Given the description of an element on the screen output the (x, y) to click on. 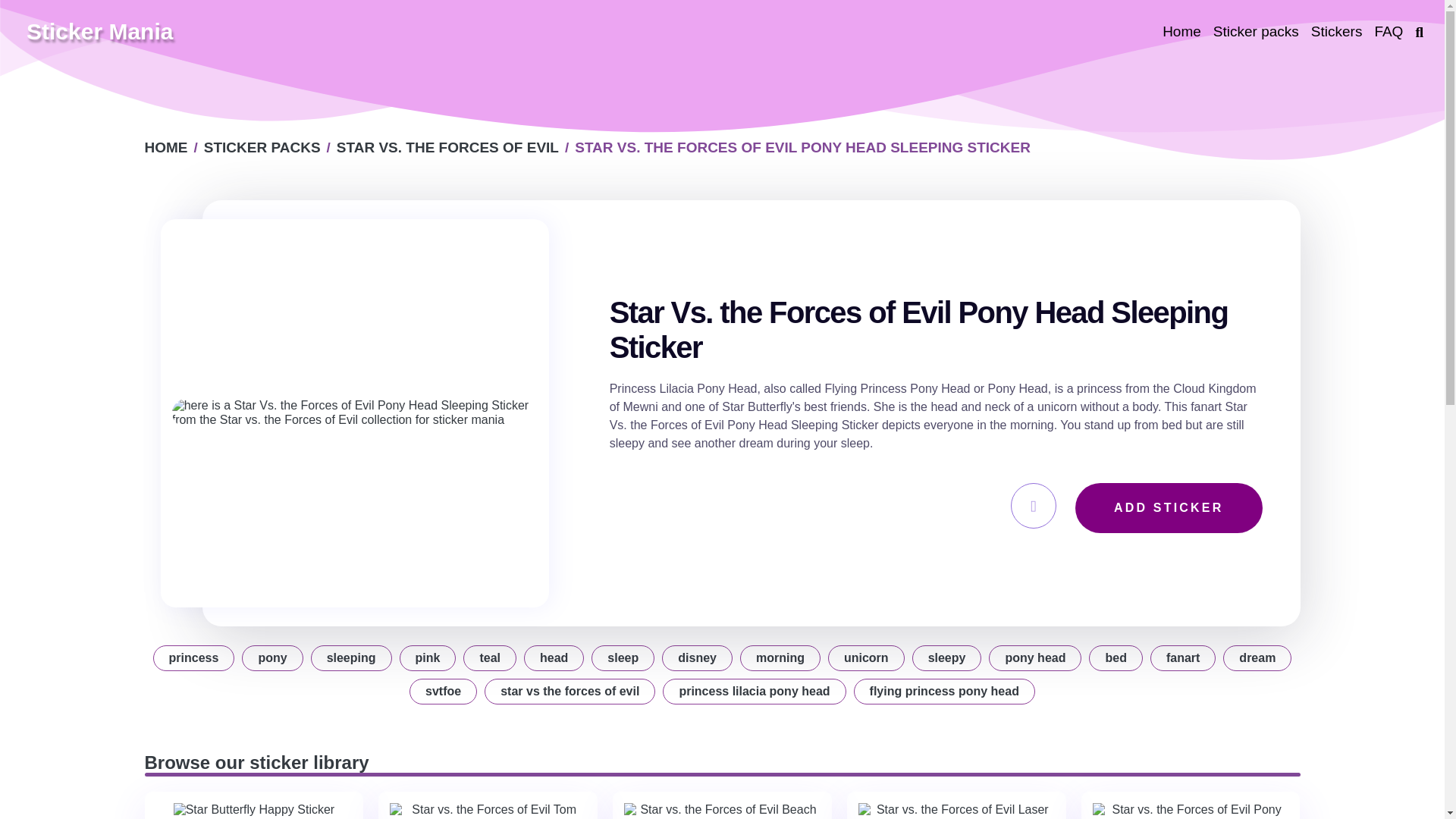
Morning (780, 657)
teal (489, 657)
Stickers (1336, 31)
Sticker packs (1255, 31)
Home (165, 147)
pink (427, 657)
Sleep (622, 657)
fanart (1182, 657)
add sticker to chrome extension (1168, 508)
Teal (489, 657)
Sticker packs (1255, 31)
pony head (1034, 657)
sleeping (351, 657)
Home (1181, 31)
HOME (165, 147)
